Given the description of an element on the screen output the (x, y) to click on. 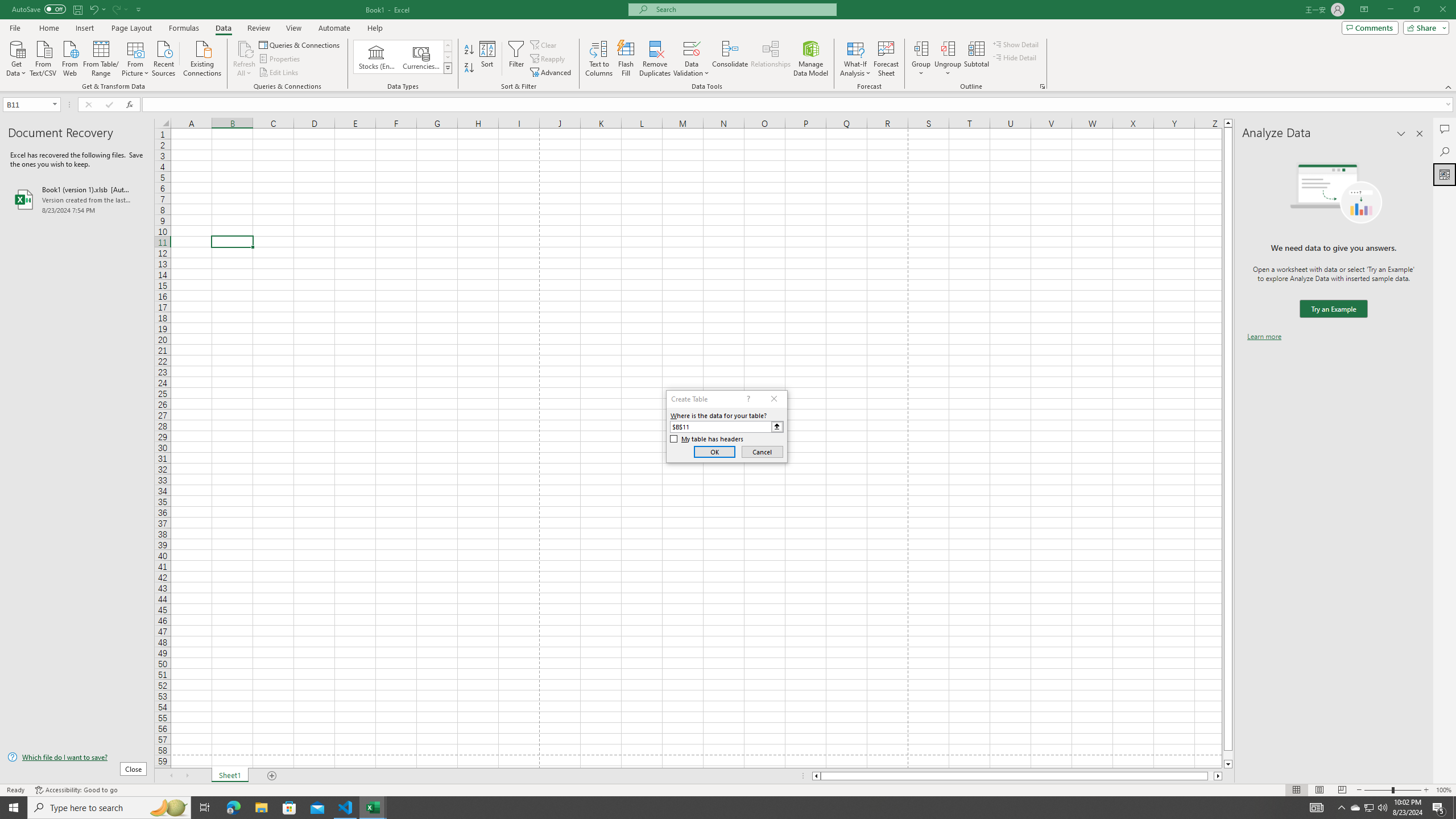
We need data to give you answers. Try an Example (1333, 308)
Consolidate... (729, 58)
